Given the description of an element on the screen output the (x, y) to click on. 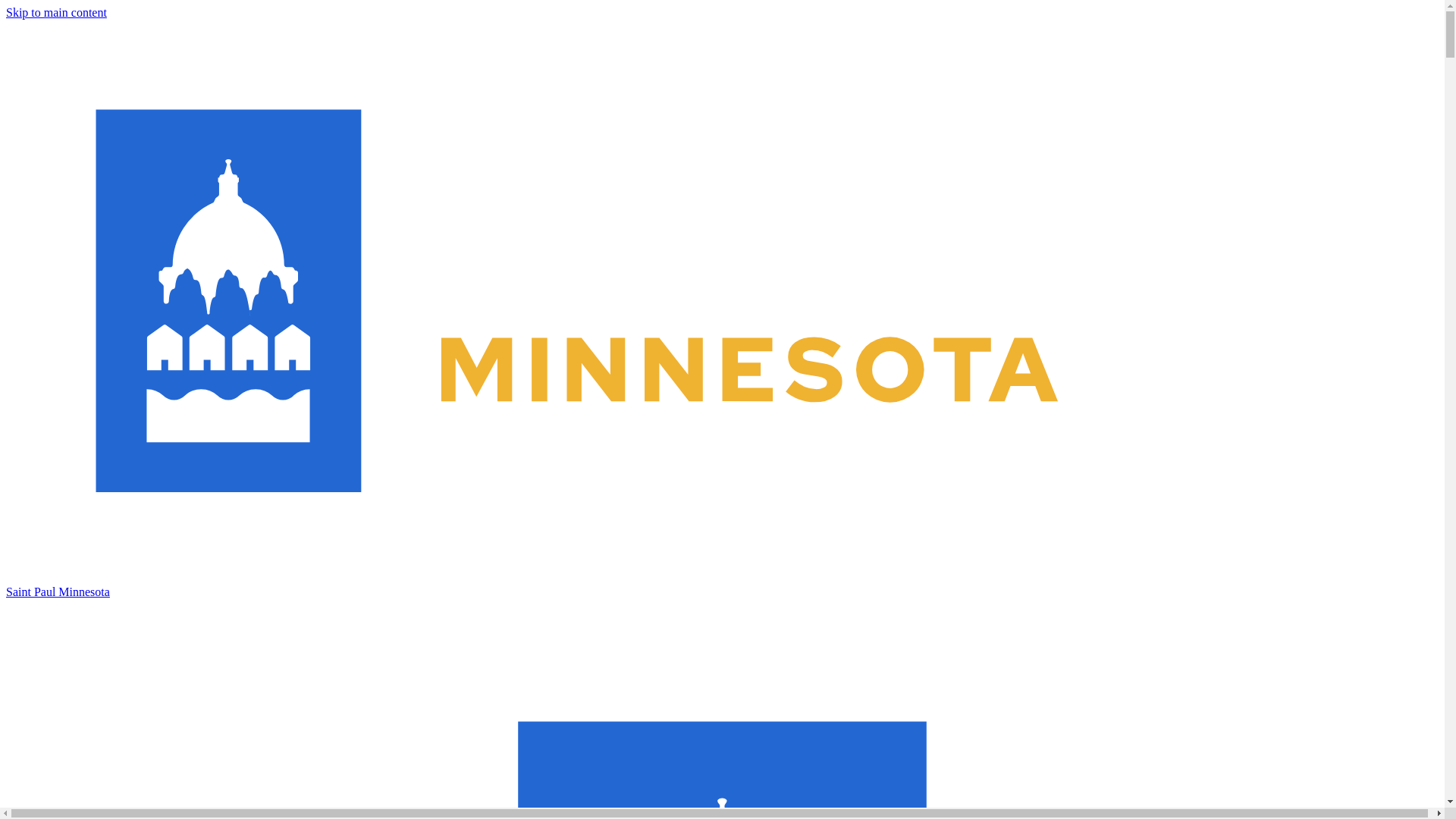
Skip to main content (55, 11)
Saint Paul Minnesota (721, 584)
Home (721, 584)
